Given the description of an element on the screen output the (x, y) to click on. 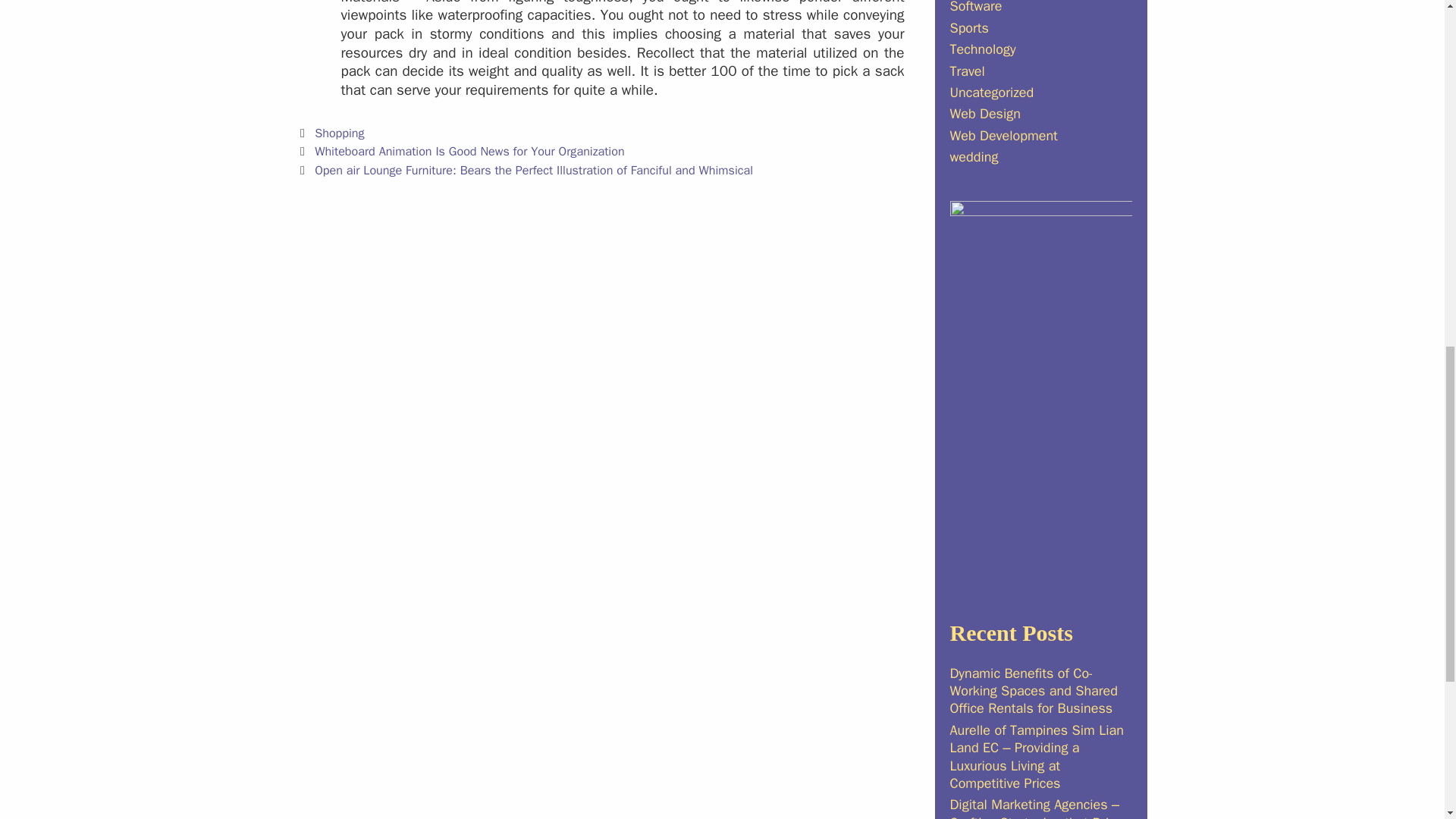
Previous (460, 150)
Shopping (339, 132)
Next (524, 170)
Whiteboard Animation Is Good News for Your Organization (469, 150)
